Given the description of an element on the screen output the (x, y) to click on. 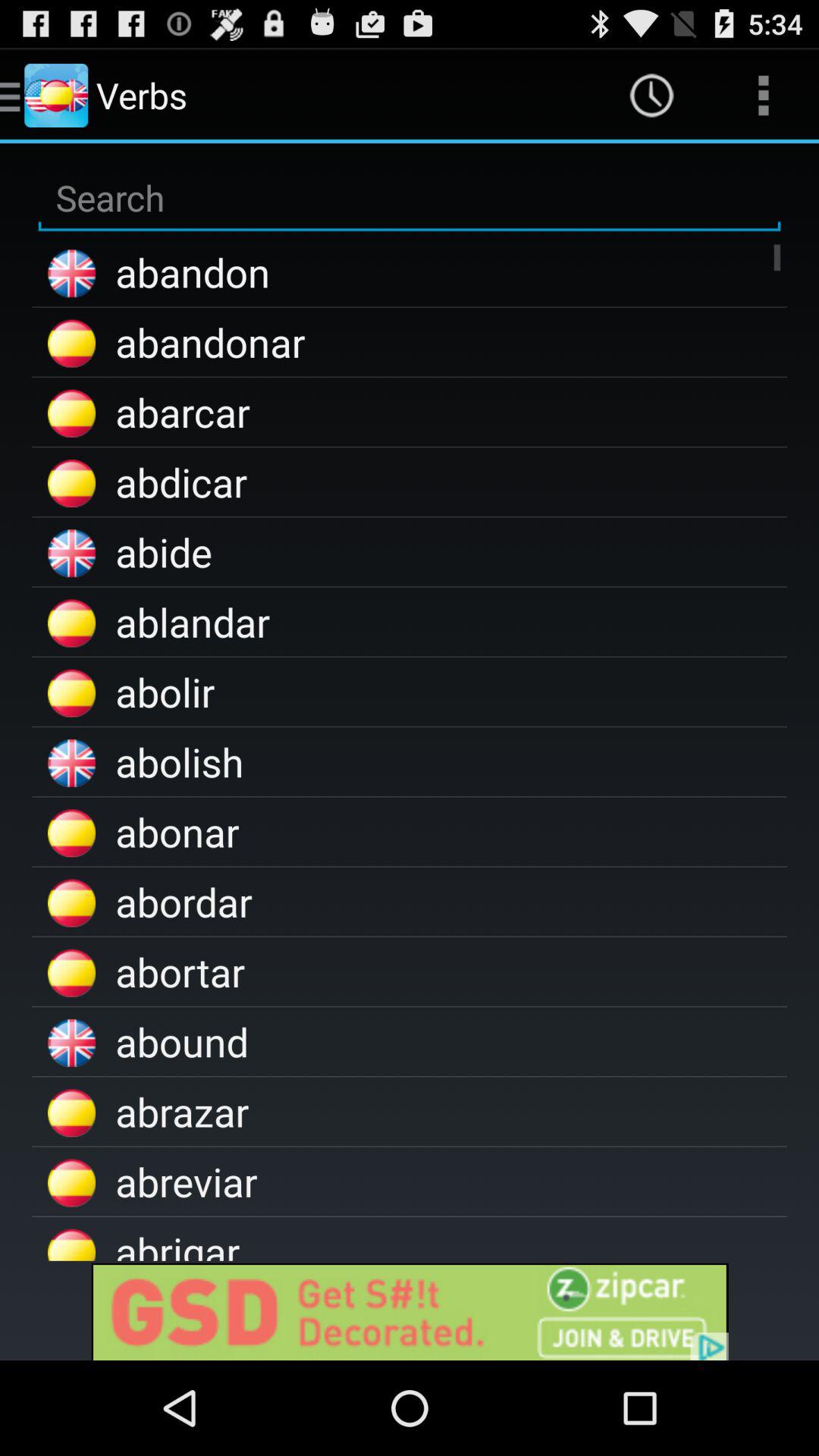
type for a search (409, 198)
